Given the description of an element on the screen output the (x, y) to click on. 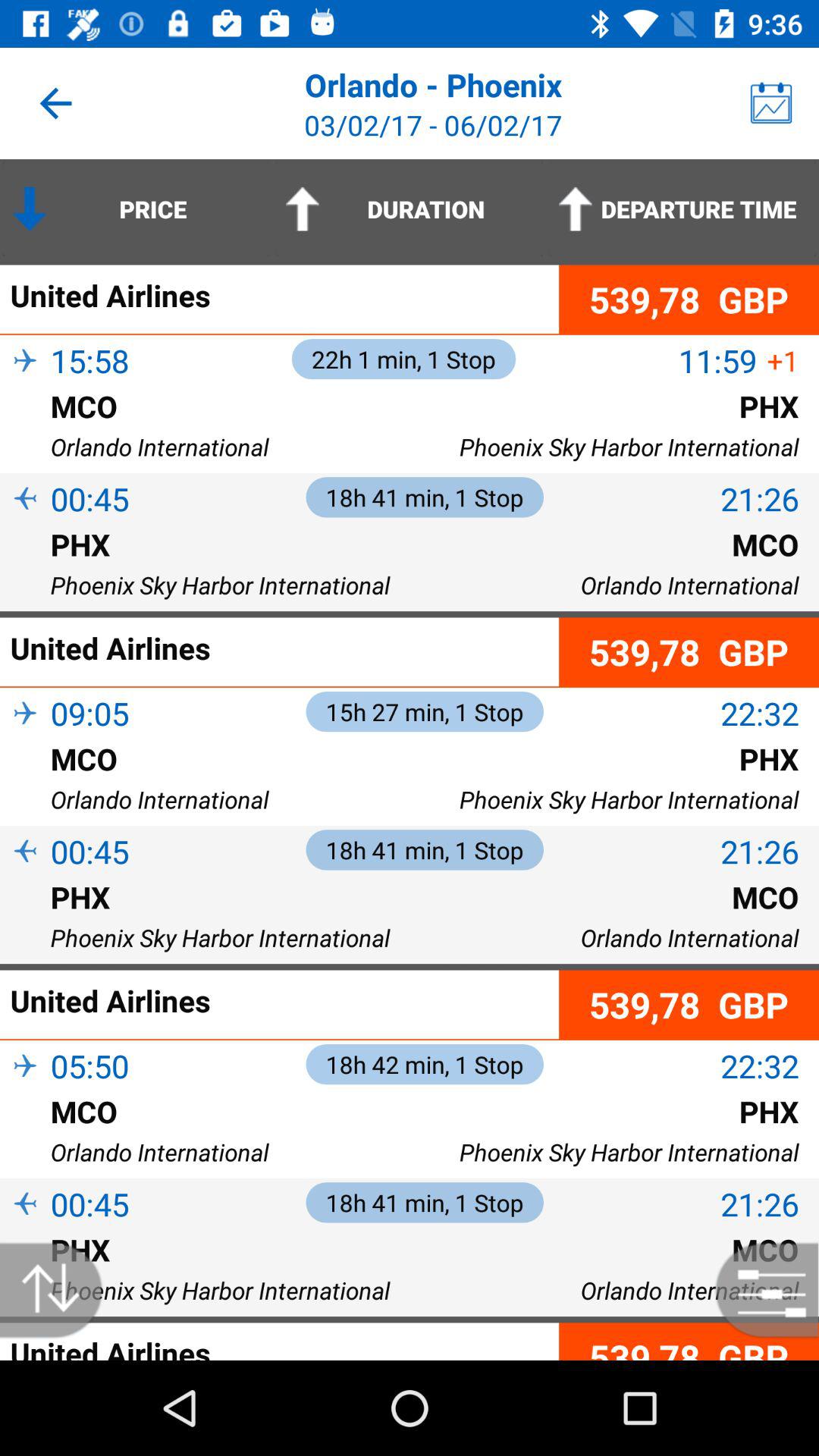
turn off the icon above phoenix sky harbor item (25, 568)
